Given the description of an element on the screen output the (x, y) to click on. 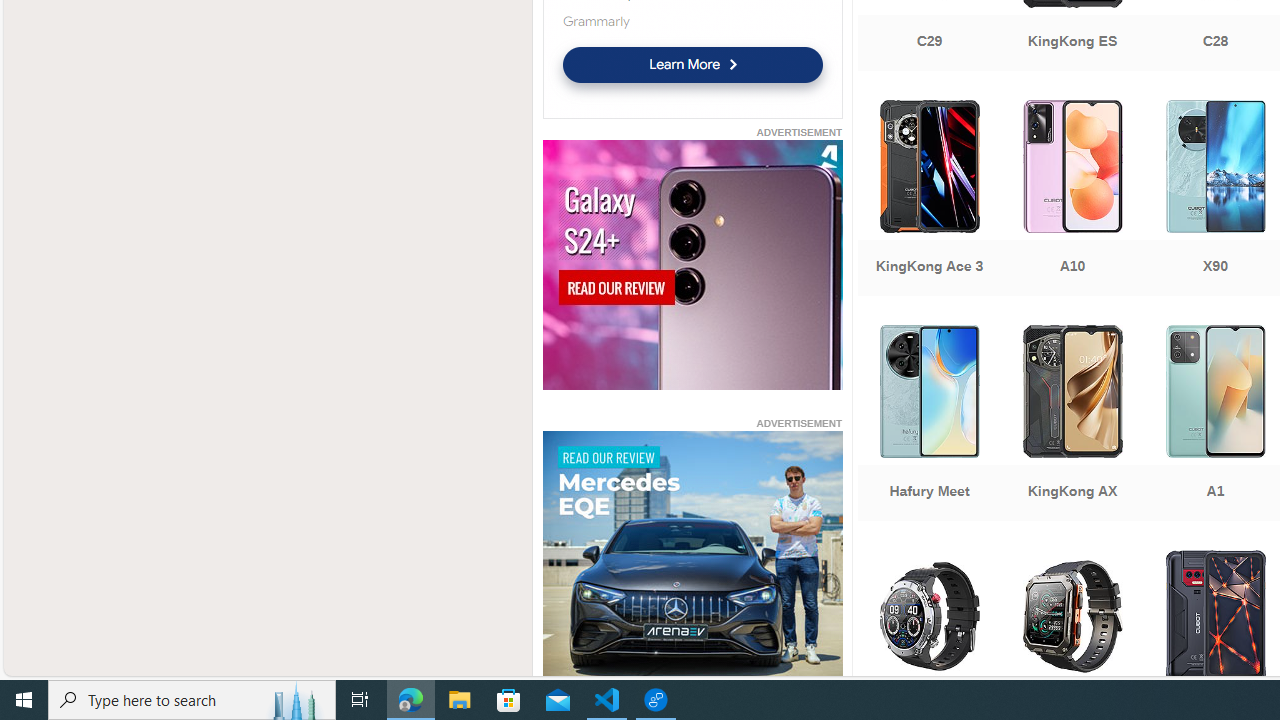
To get missing image descriptions, open the context menu. (692, 557)
KingKong AX (1072, 425)
